Given the description of an element on the screen output the (x, y) to click on. 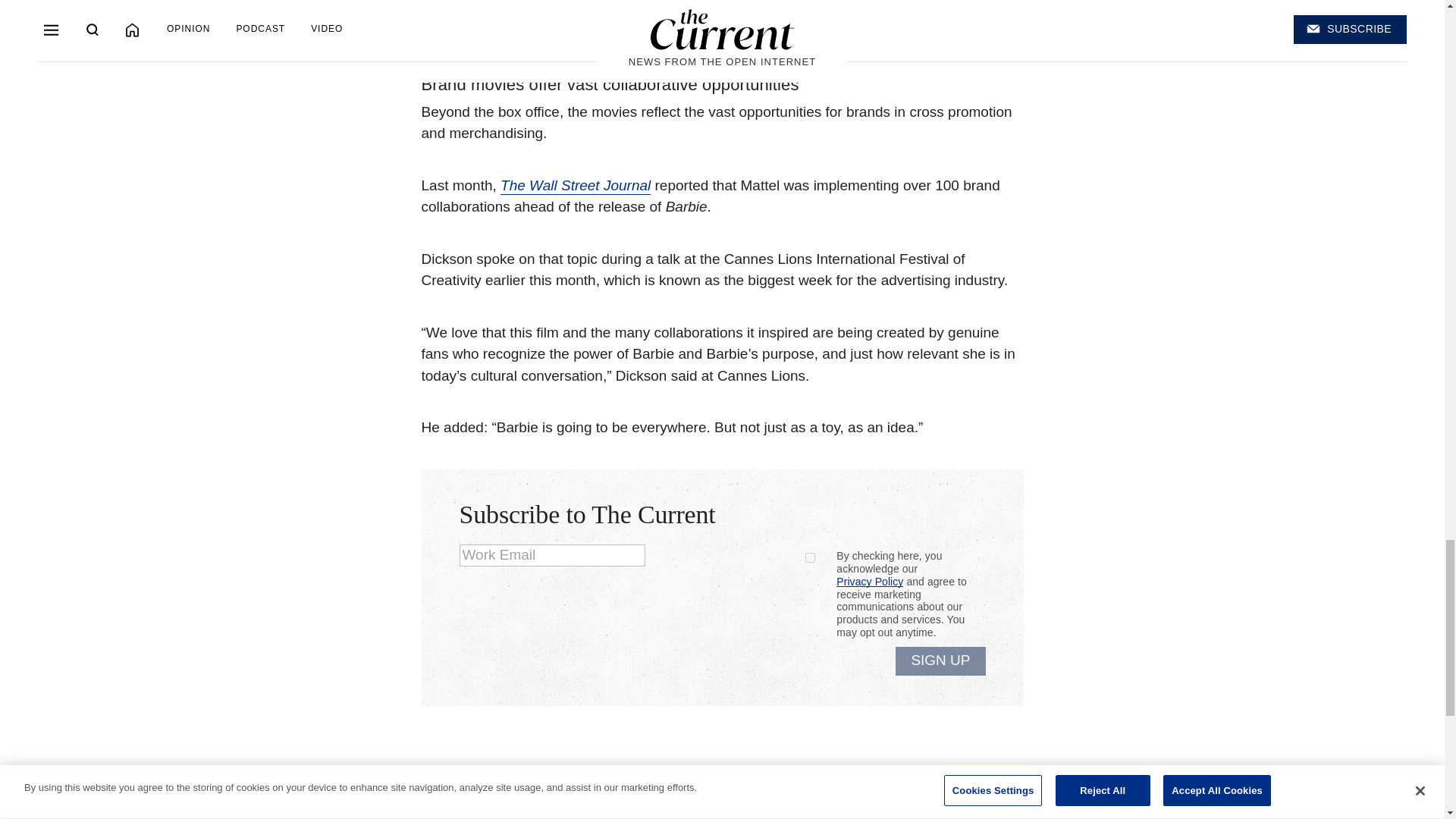
yes (810, 557)
SIGN UP (940, 661)
The Wall Street Journal (575, 186)
Privacy Policy (868, 581)
